Given the description of an element on the screen output the (x, y) to click on. 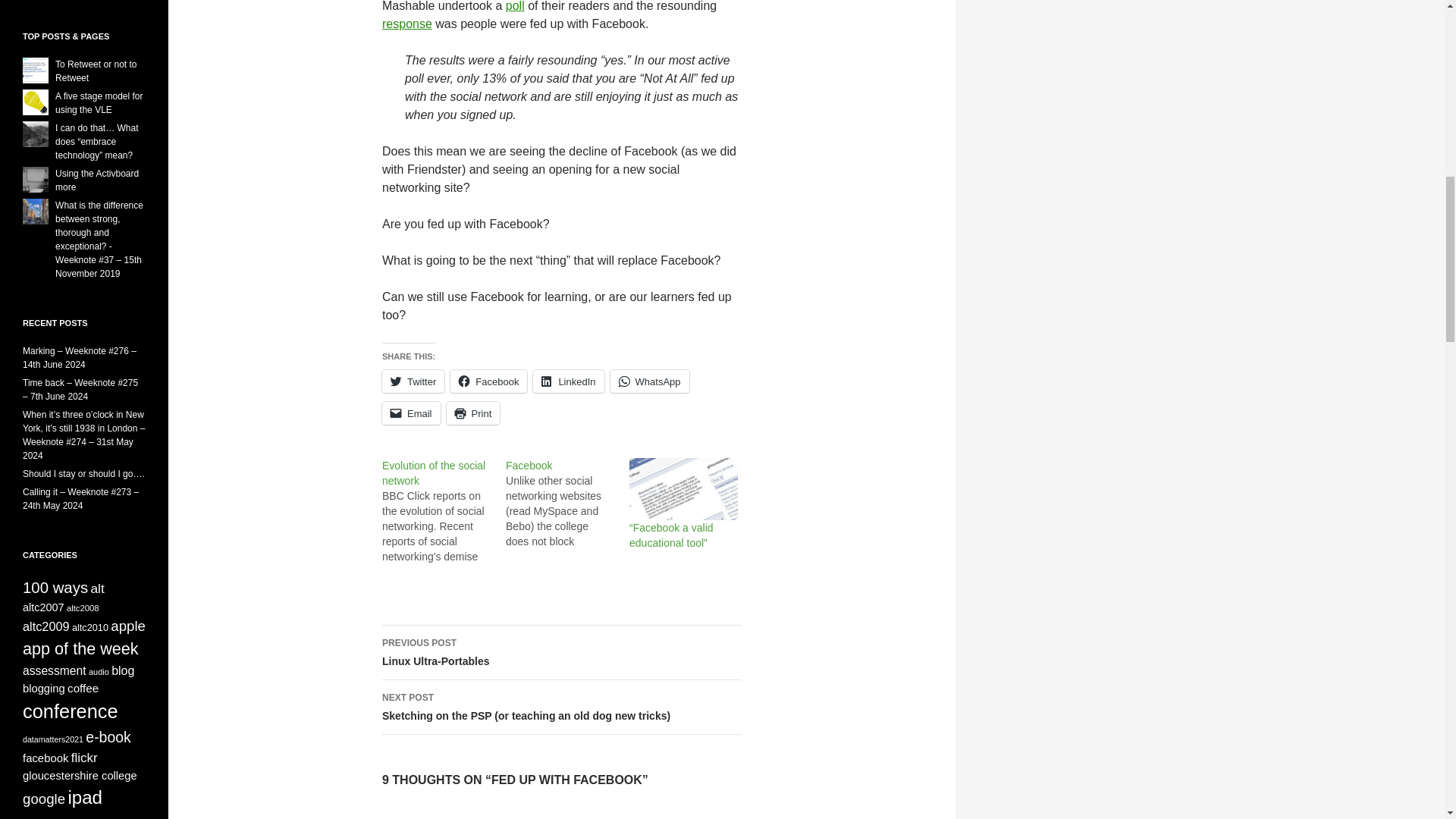
Evolution of the social network (443, 510)
Evolution of the social network (432, 472)
Click to email a link to a friend (411, 413)
Twitter (412, 381)
Click to share on Twitter (412, 381)
Facebook (566, 502)
Facebook (528, 465)
Click to print (473, 413)
poll (514, 6)
Click to share on Facebook (488, 381)
To Retweet or not to Retweet (95, 70)
Facebook (488, 381)
Print (473, 413)
Email (411, 413)
WhatsApp (649, 381)
